Given the description of an element on the screen output the (x, y) to click on. 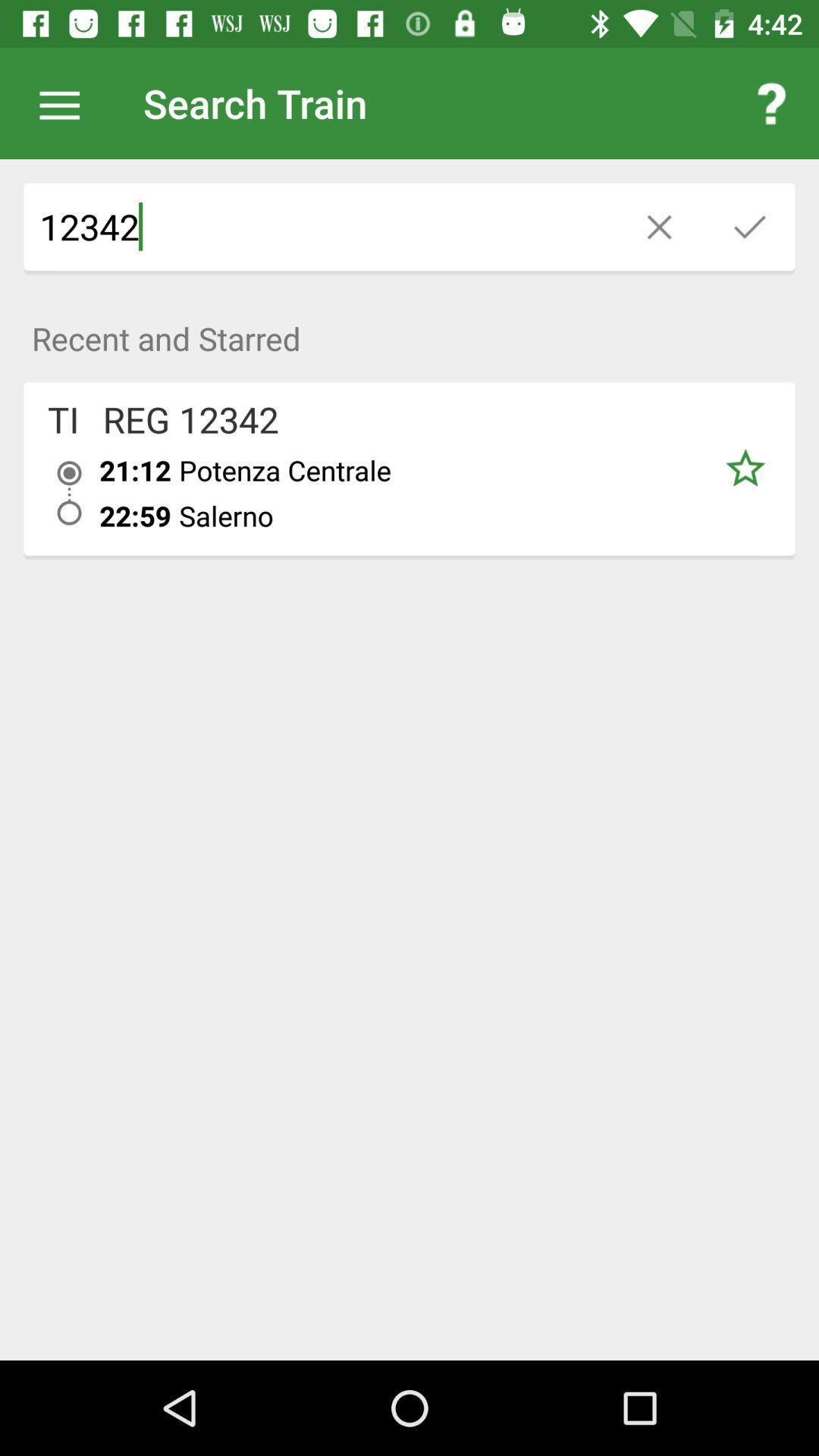
open icon above ti item (409, 330)
